Given the description of an element on the screen output the (x, y) to click on. 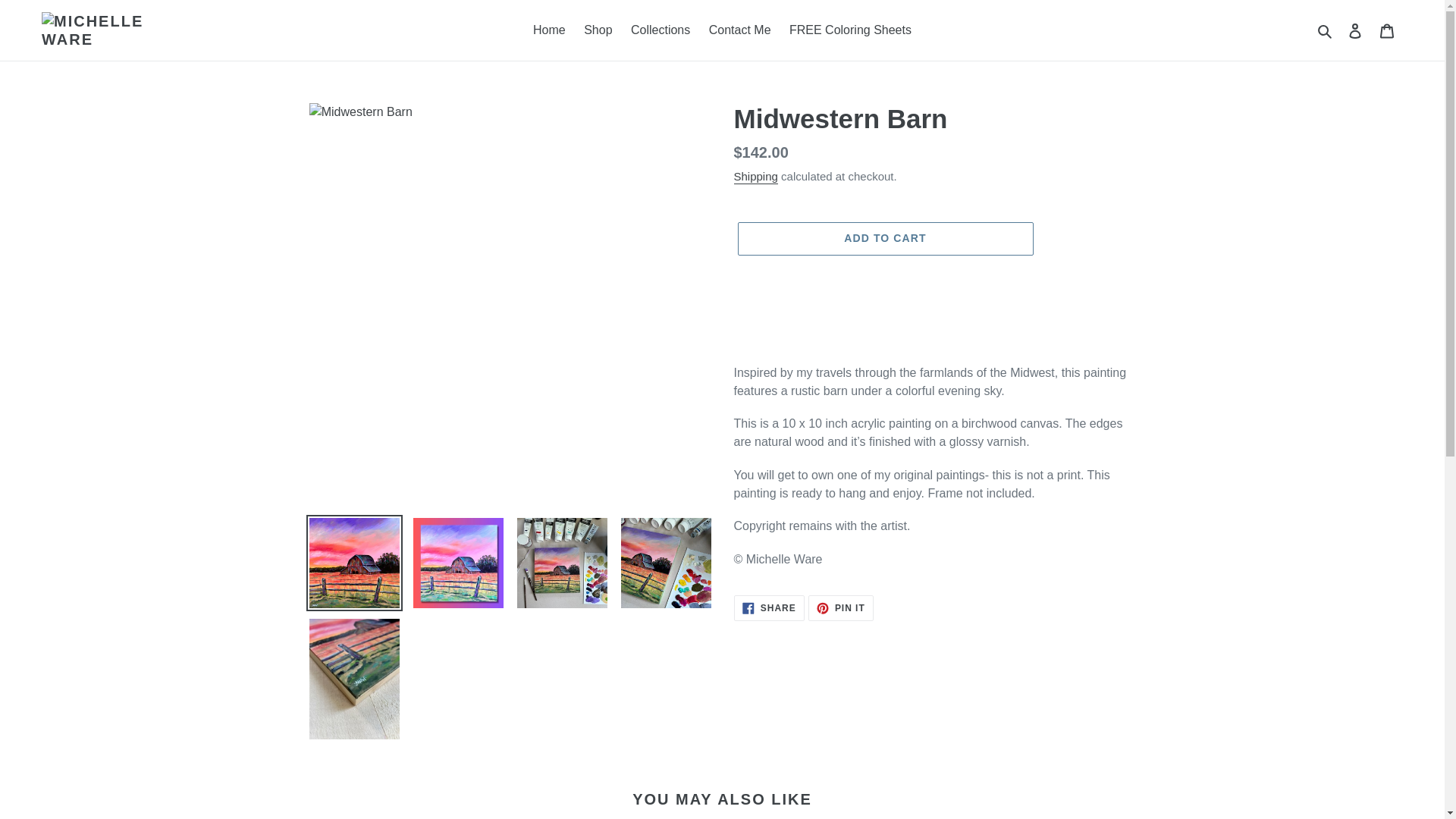
Cart (1387, 29)
Search (1326, 30)
Collections (660, 29)
Shipping (755, 176)
FREE Coloring Sheets (849, 29)
ADD TO CART (884, 238)
Contact Me (769, 607)
Home (739, 29)
Log in (549, 29)
Shop (1355, 29)
